Given the description of an element on the screen output the (x, y) to click on. 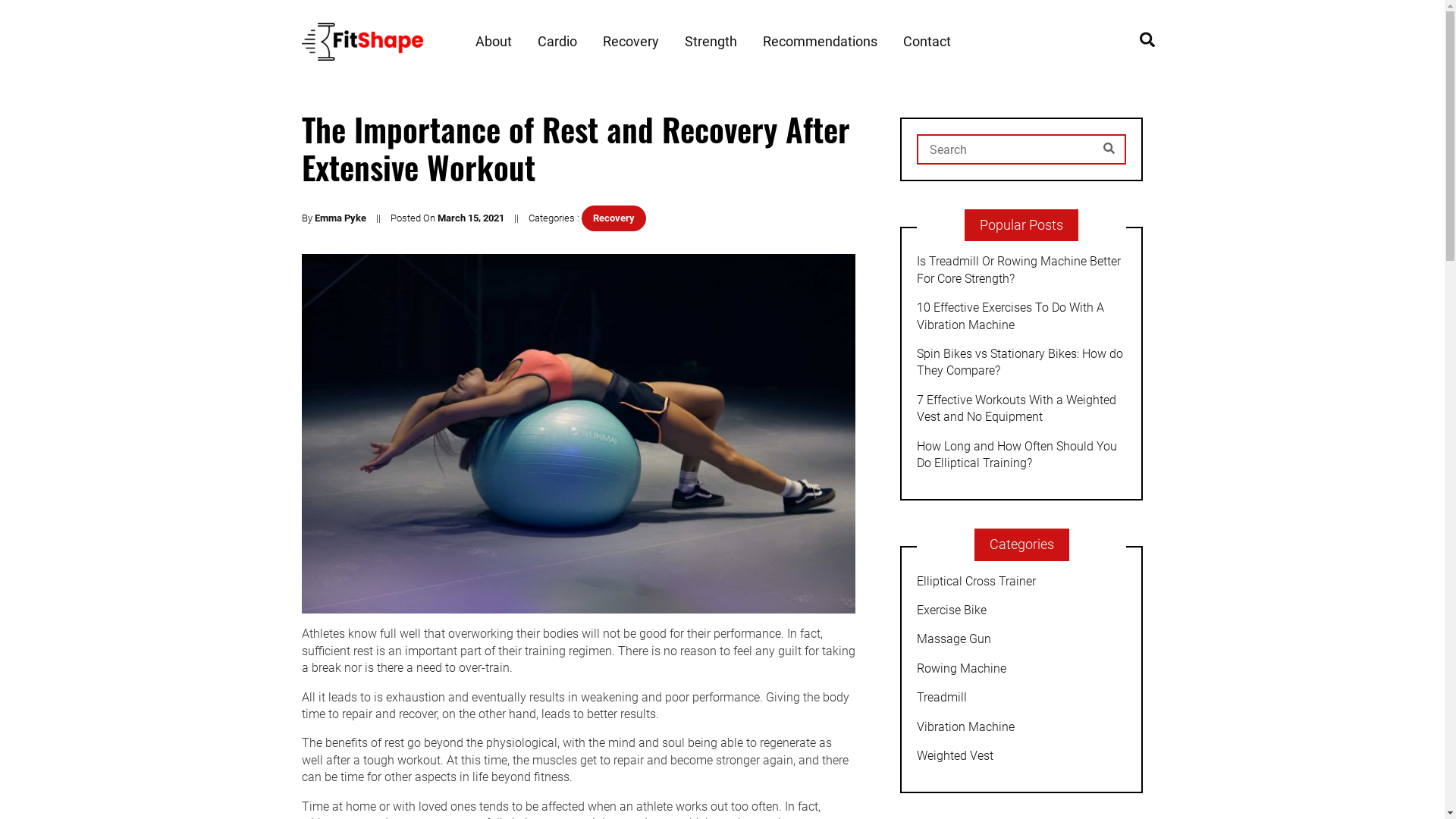
About Element type: text (492, 41)
Vibration Machine Element type: text (1021, 726)
March 15, 2021 Element type: text (469, 217)
Rowing Machine Element type: text (1021, 668)
10 Effective Exercises To Do With A Vibration Machine Element type: text (1021, 316)
Weighted Vest Element type: text (1021, 755)
Recovery Element type: text (630, 41)
Strength Element type: text (710, 41)
Cardio Element type: text (556, 41)
Recommendations Element type: text (819, 41)
Elliptical Cross Trainer Element type: text (1021, 581)
Treadmill Element type: text (1021, 697)
7 Effective Workouts With a Weighted Vest and No Equipment Element type: text (1021, 409)
Spin Bikes vs Stationary Bikes: How do They Compare? Element type: text (1021, 362)
Recovery Element type: text (612, 217)
Exercise Bike Element type: text (1021, 610)
Massage Gun Element type: text (1021, 638)
Emma Pyke Element type: text (339, 218)
How Long and How Often Should You Do Elliptical Training? Element type: text (1021, 455)
Is Treadmill Or Rowing Machine Better For Core Strength? Element type: text (1021, 270)
Contact Element type: text (926, 41)
